Given the description of an element on the screen output the (x, y) to click on. 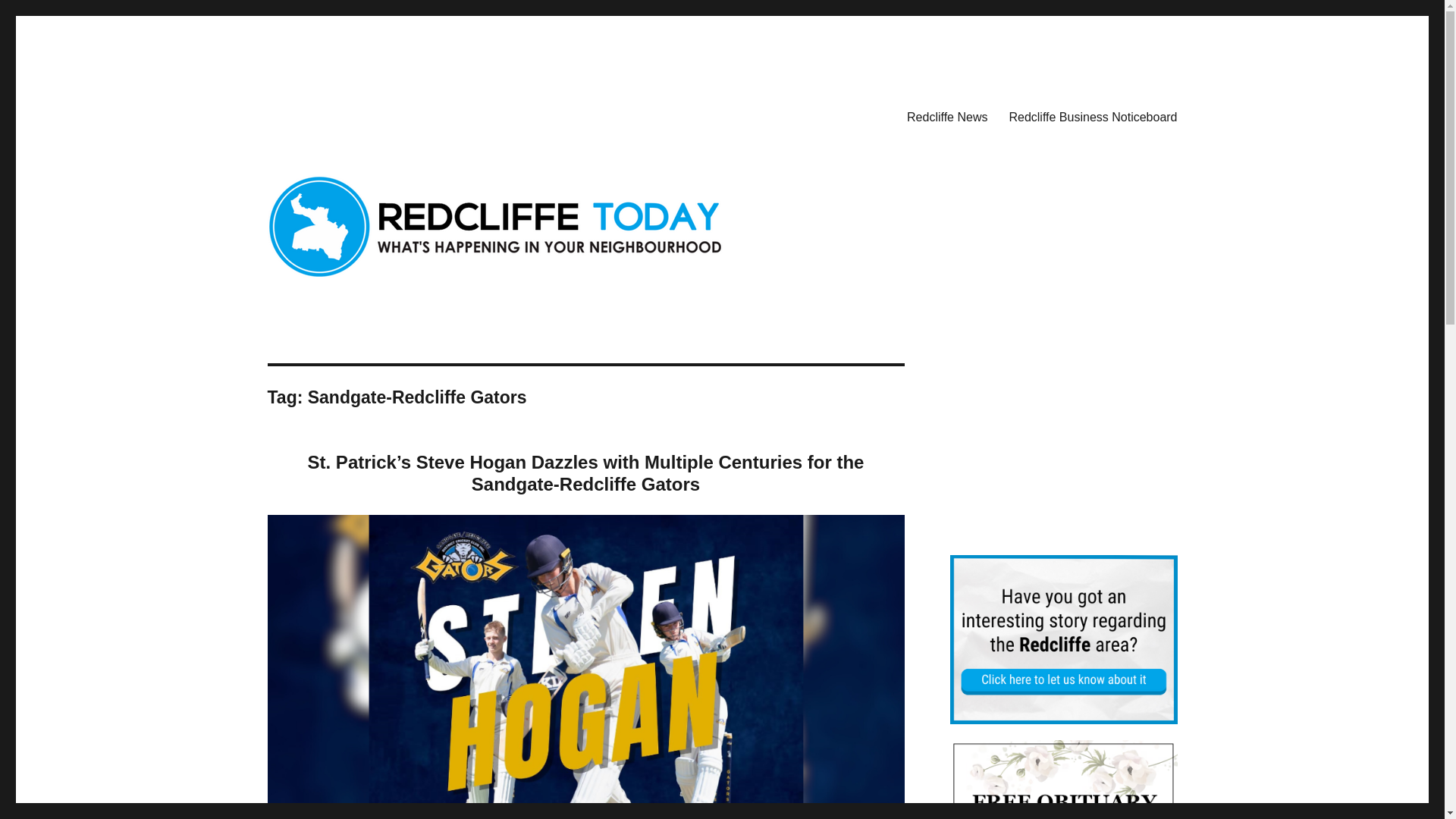
Redcliffe News (946, 116)
Redcliffe Business Noticeboard (1092, 116)
Redcliffe Today (344, 114)
